Given the description of an element on the screen output the (x, y) to click on. 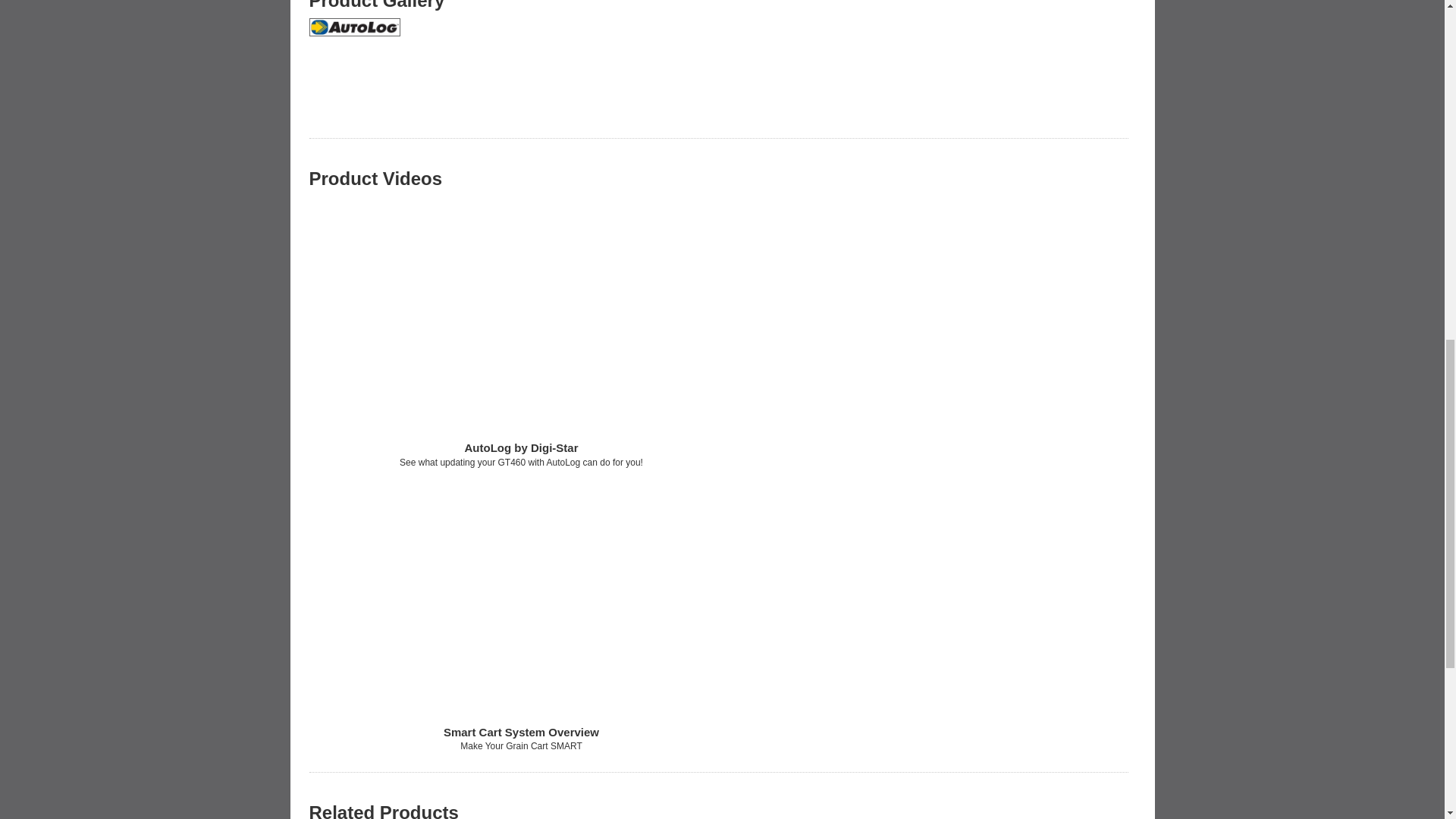
YouTube video player (520, 599)
